Given the description of an element on the screen output the (x, y) to click on. 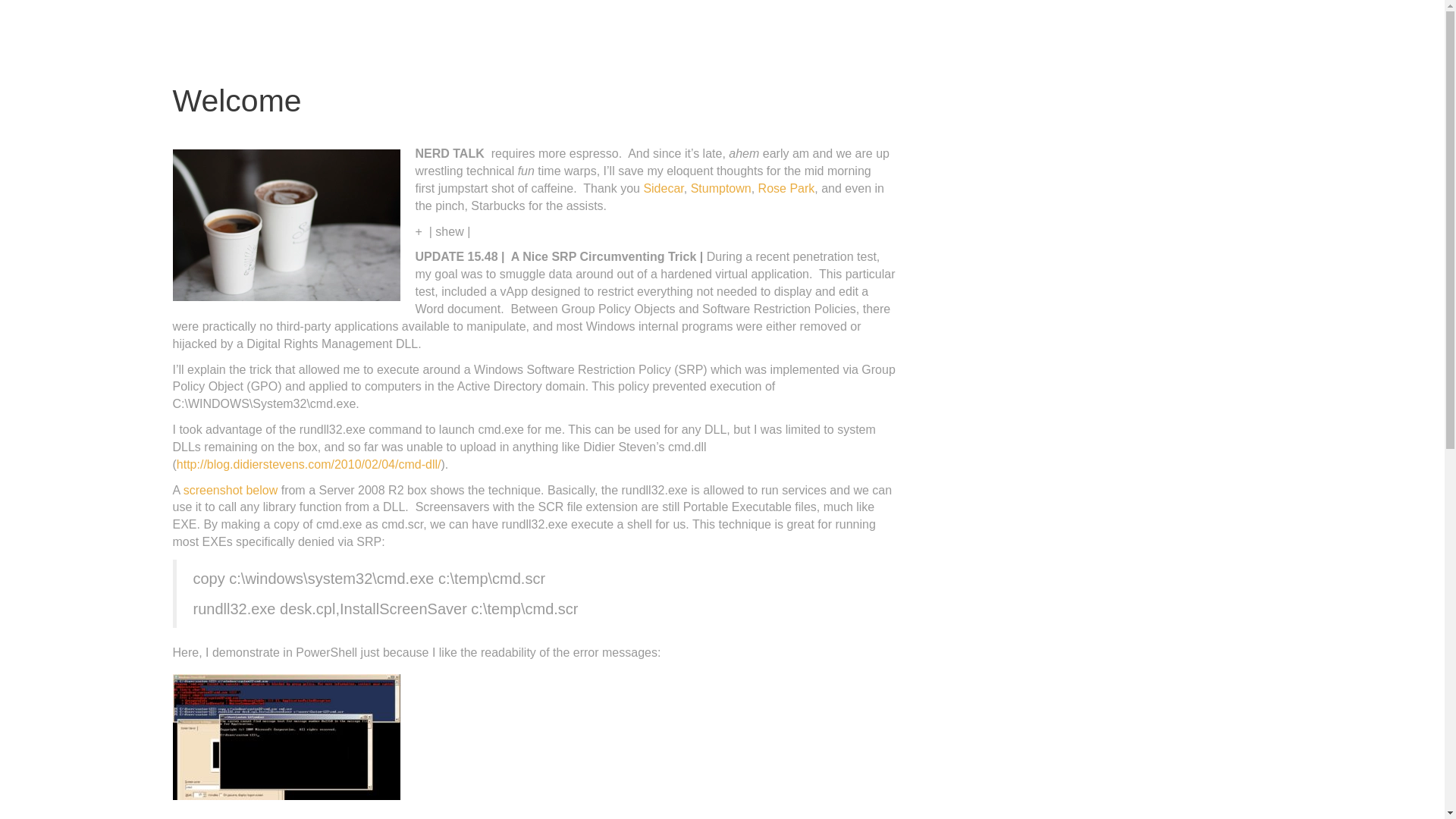
Sidecar Doughnuts (662, 187)
Windows Powershell (230, 490)
Stumptown Coffee (720, 187)
Rose Park Roasters (786, 187)
Sidecar (662, 187)
Rose Park (786, 187)
Stumptown (720, 187)
Didier Steven's cmd.dll  (308, 463)
BLUENOTCH (244, 34)
screenshot below (230, 490)
